Given the description of an element on the screen output the (x, y) to click on. 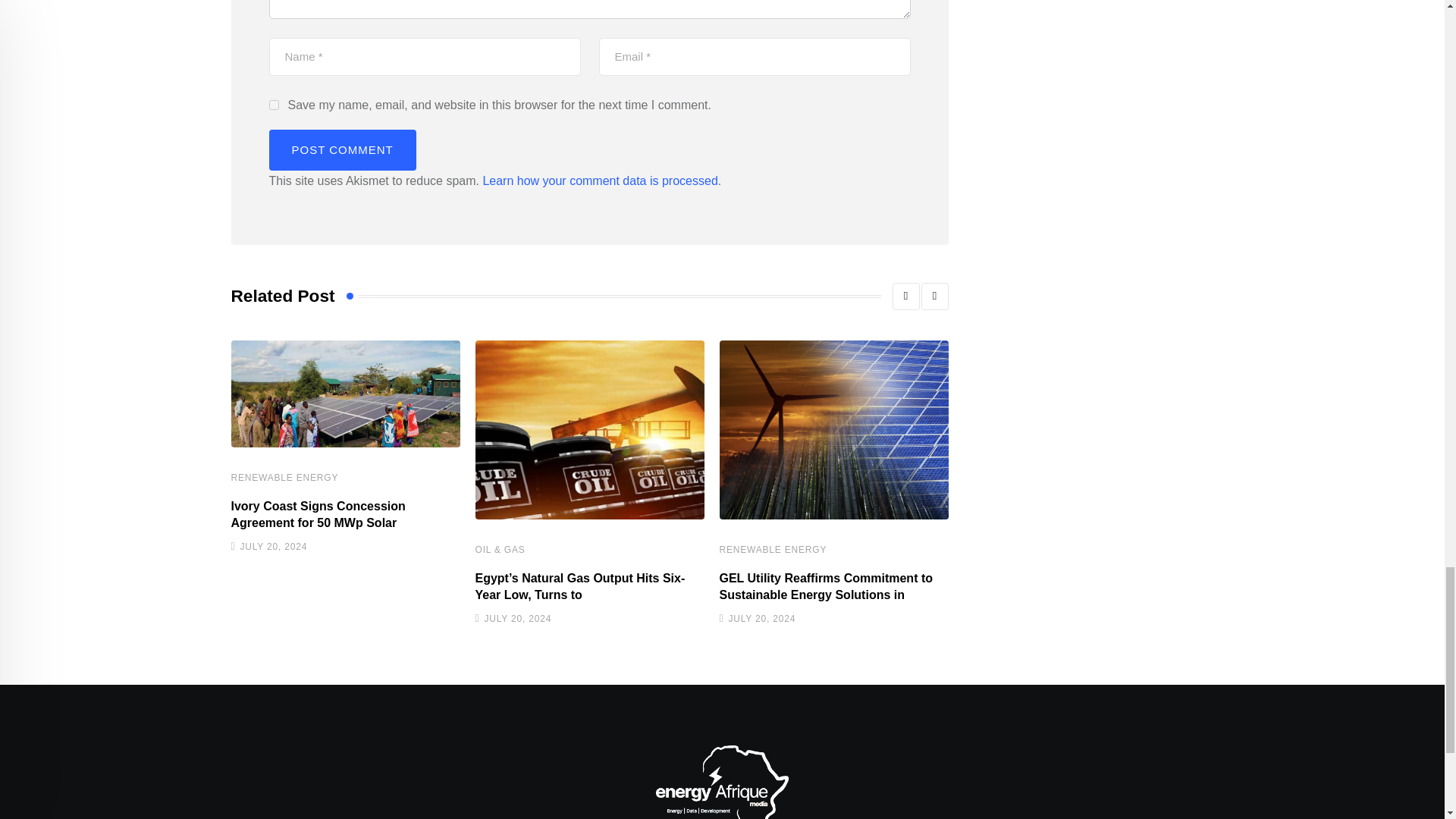
yes (272, 104)
Post Comment (340, 149)
